Given the description of an element on the screen output the (x, y) to click on. 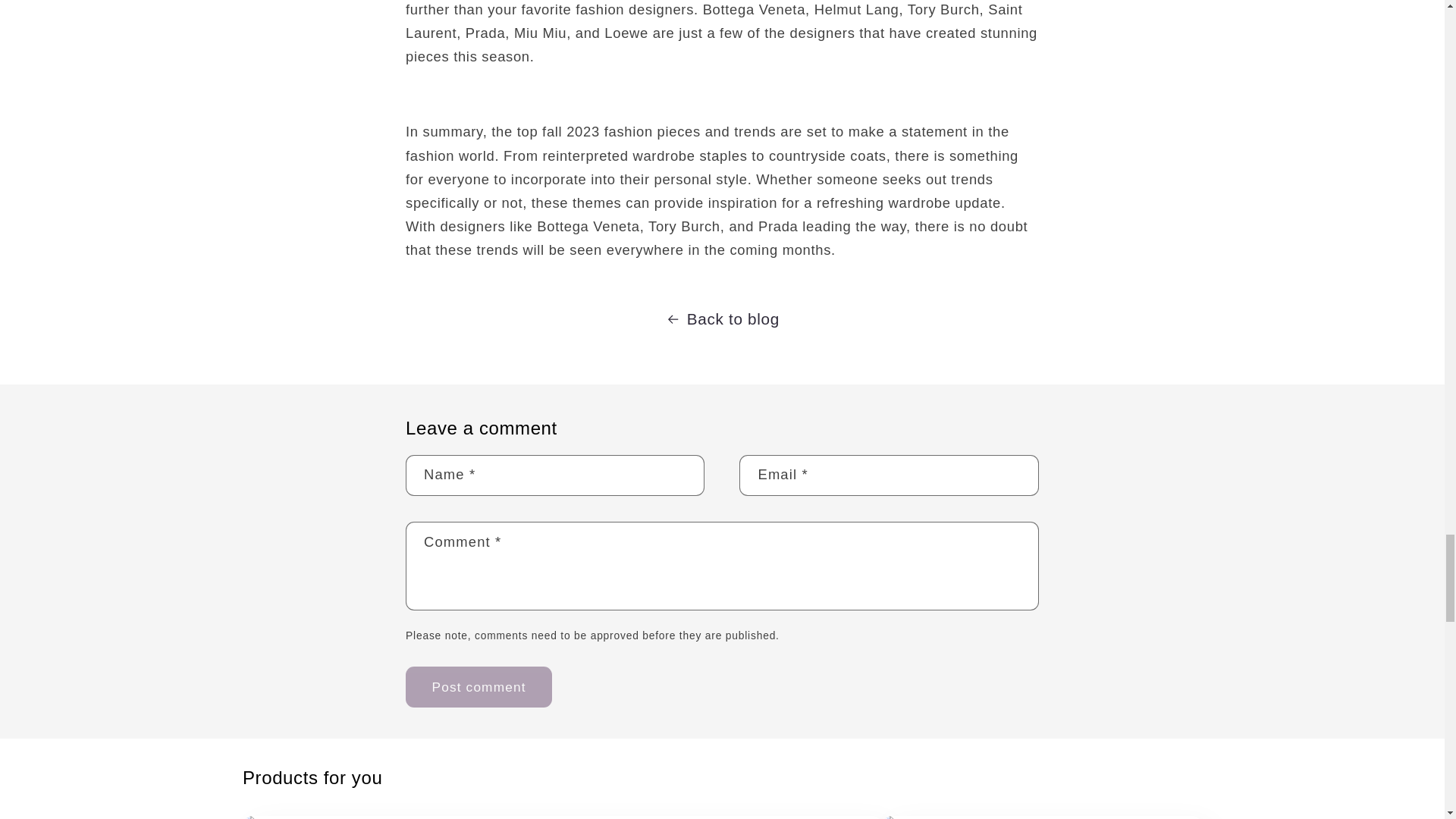
Post comment (478, 686)
